Given the description of an element on the screen output the (x, y) to click on. 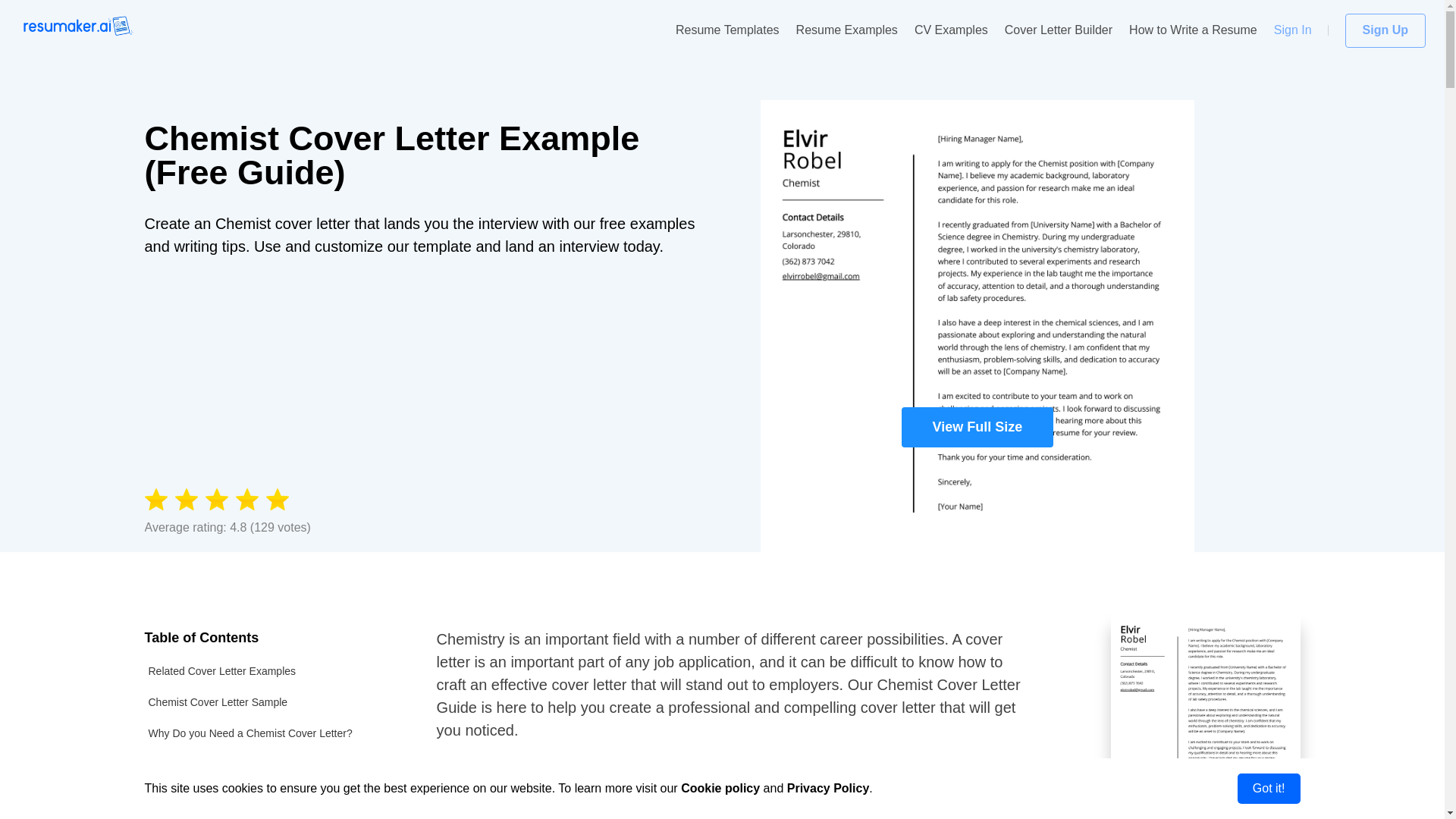
What's The Best Structure For Chemist Cover Letters? (270, 799)
View Full Size (1166, 696)
A Few Important Rules To Keep In Mind (270, 764)
CV Examples (951, 30)
Resume Templates (726, 30)
Related Cover Letter Examples (270, 671)
How to Write a Resume (1193, 30)
Cover Letter Builder (1058, 30)
Chemist Cover Letter Sample (270, 702)
Resume Examples (847, 30)
Why Do you Need a Chemist Cover Letter? (270, 733)
